Given the description of an element on the screen output the (x, y) to click on. 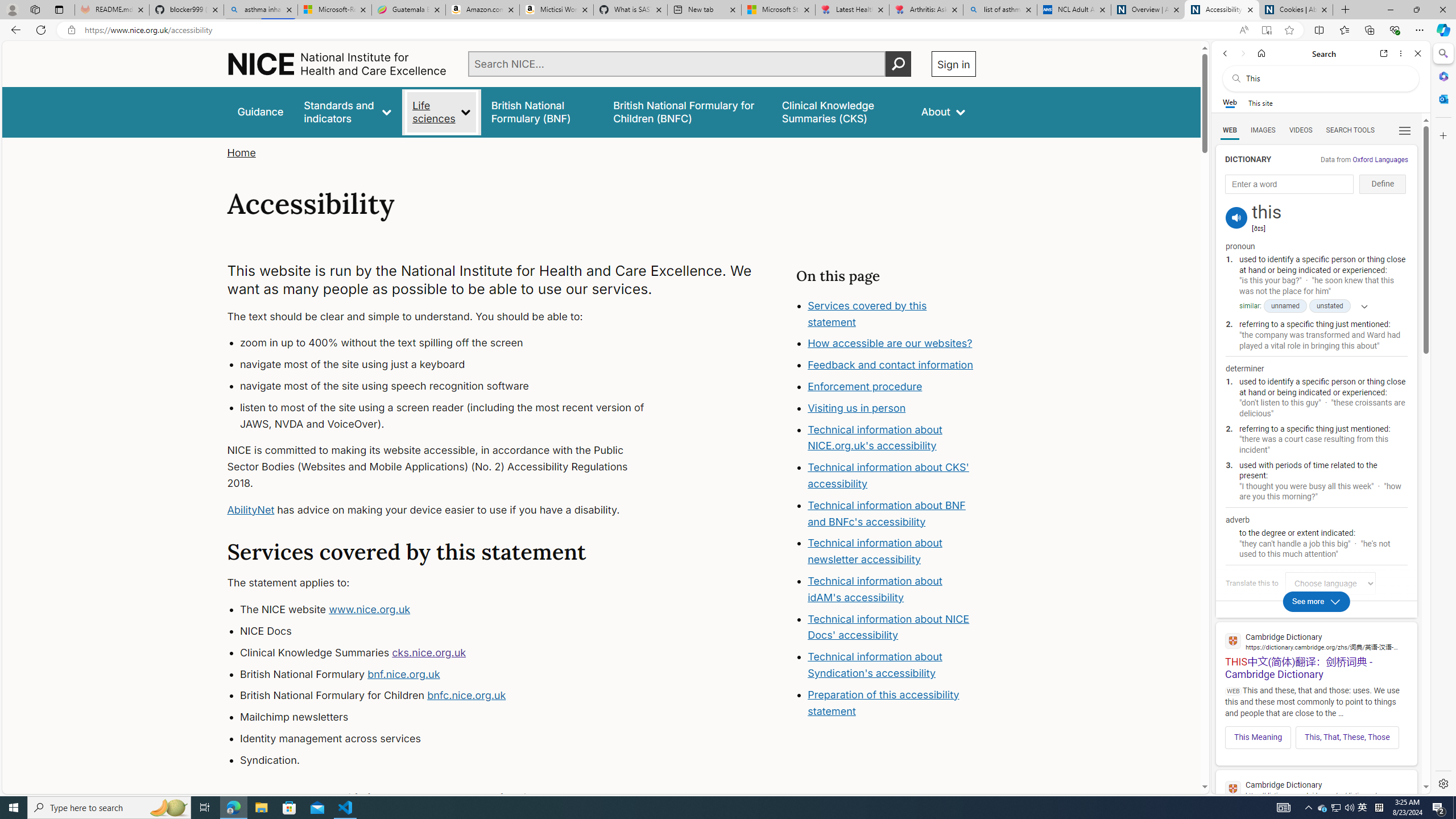
This Meaning (1257, 737)
How accessible are our websites? (891, 343)
Syndication. (452, 760)
Feedback and contact information (891, 365)
asthma inhaler - Search (260, 9)
Translate this to Choose language (1329, 582)
